Given the description of an element on the screen output the (x, y) to click on. 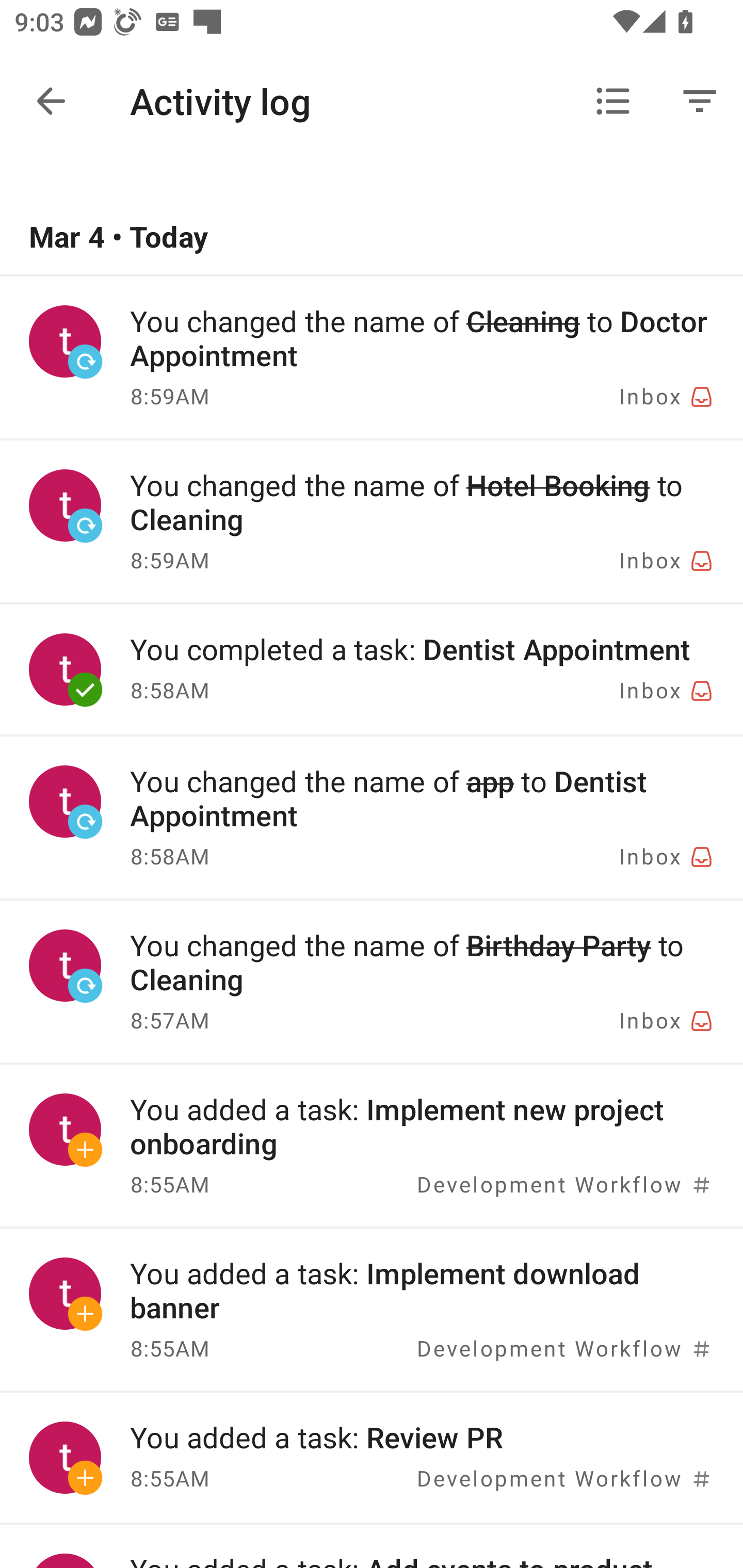
Navigate up (50, 101)
By project (612, 101)
Filter (699, 101)
Mar 4 • Today (371, 238)
